Given the description of an element on the screen output the (x, y) to click on. 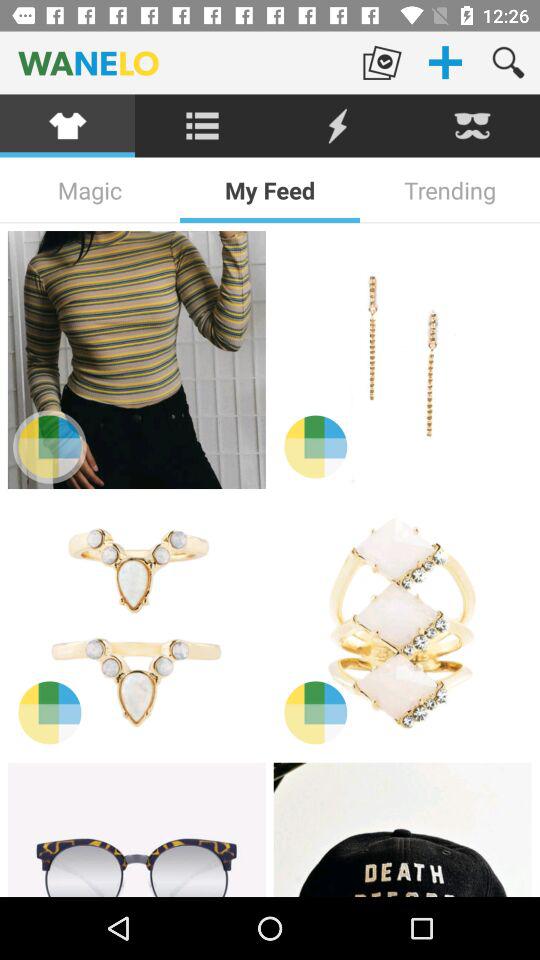
tap item above trending item (472, 125)
